Given the description of an element on the screen output the (x, y) to click on. 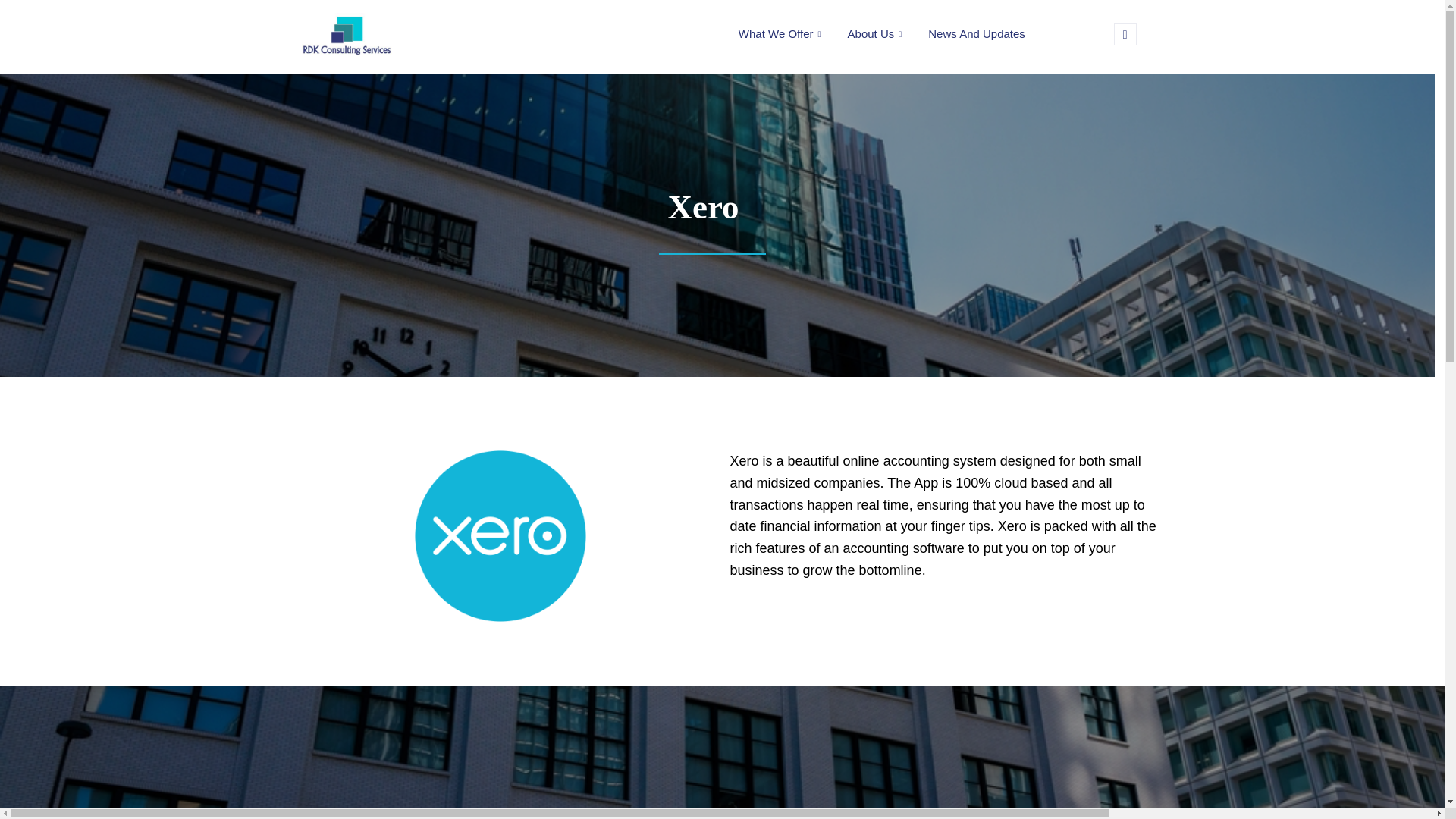
About Us (876, 33)
News And Updates (976, 33)
What We Offer (780, 33)
